Given the description of an element on the screen output the (x, y) to click on. 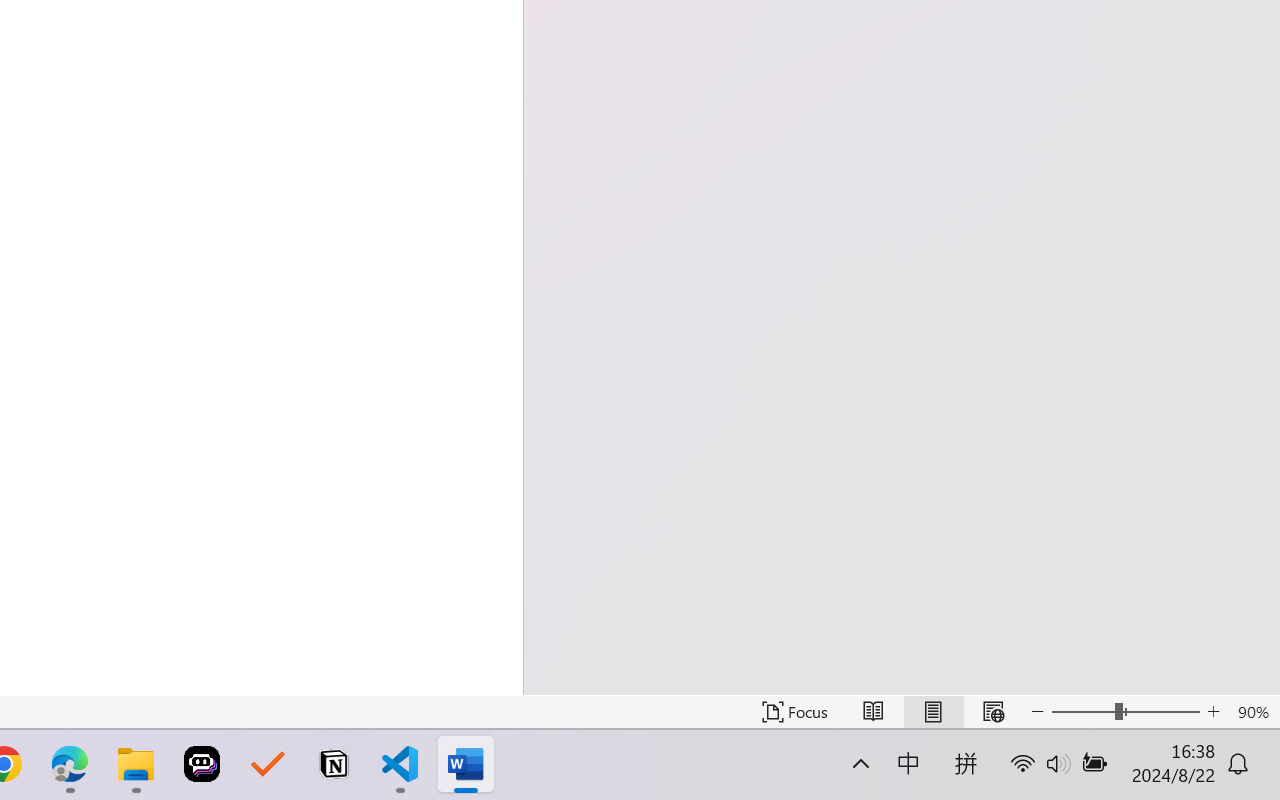
Zoom 90% (1253, 712)
